Given the description of an element on the screen output the (x, y) to click on. 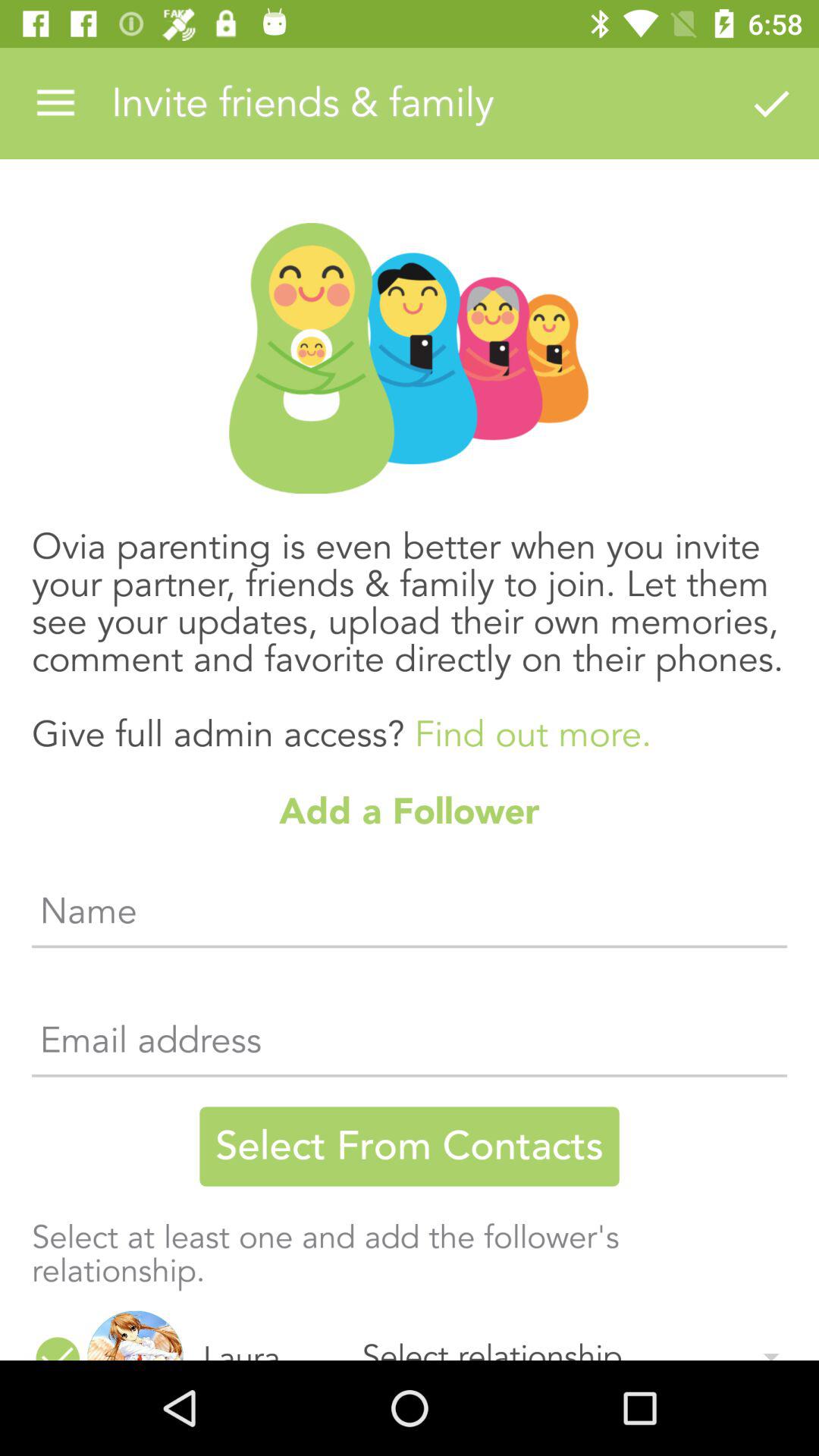
tap the item at the top left corner (55, 103)
